Given the description of an element on the screen output the (x, y) to click on. 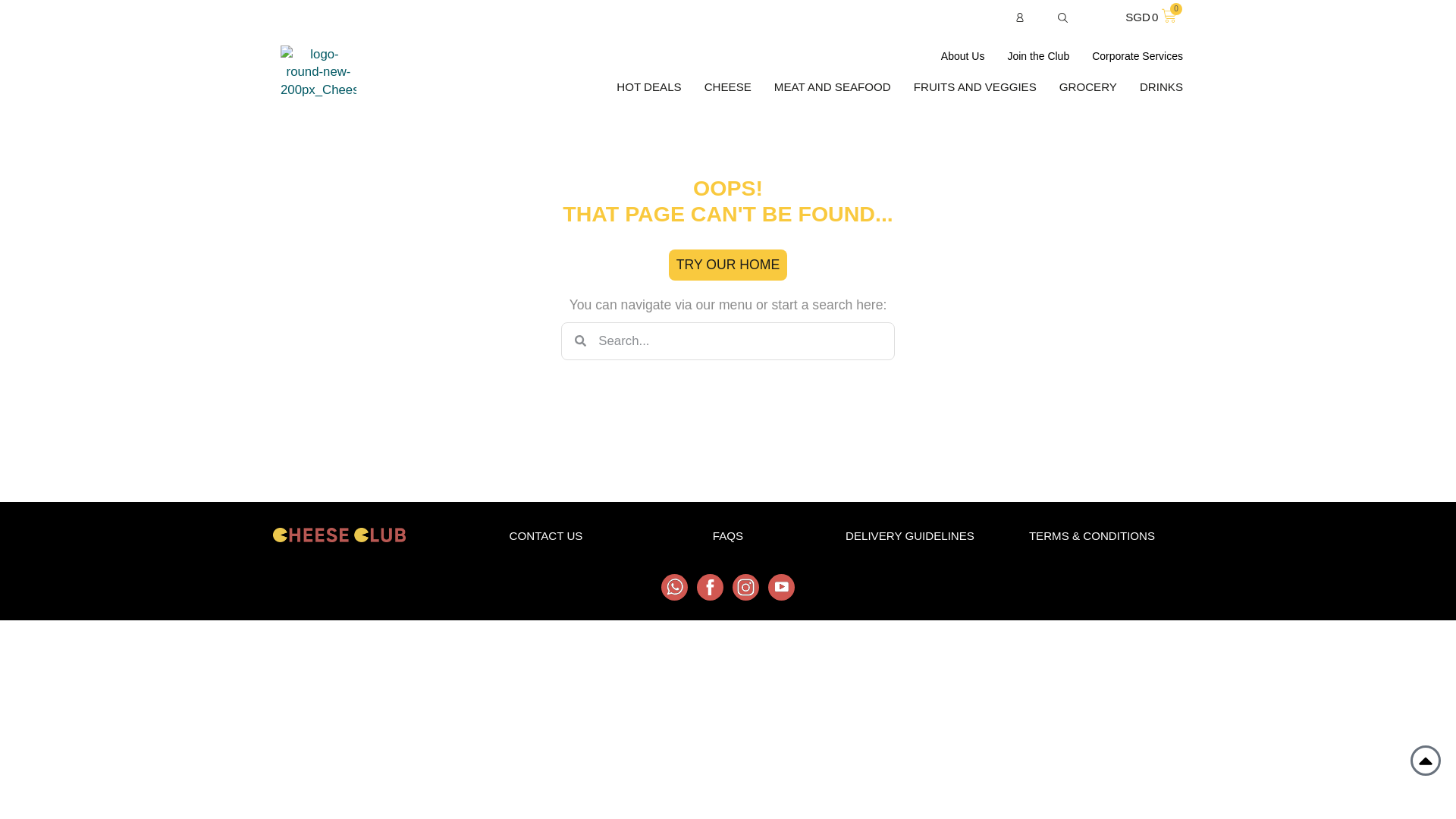
MEAT AND SEAFOOD (832, 86)
Corporate Services (1137, 55)
About Us (962, 55)
CHEESE (1149, 17)
HOT DEALS (727, 86)
Join the Club (648, 86)
